Given the description of an element on the screen output the (x, y) to click on. 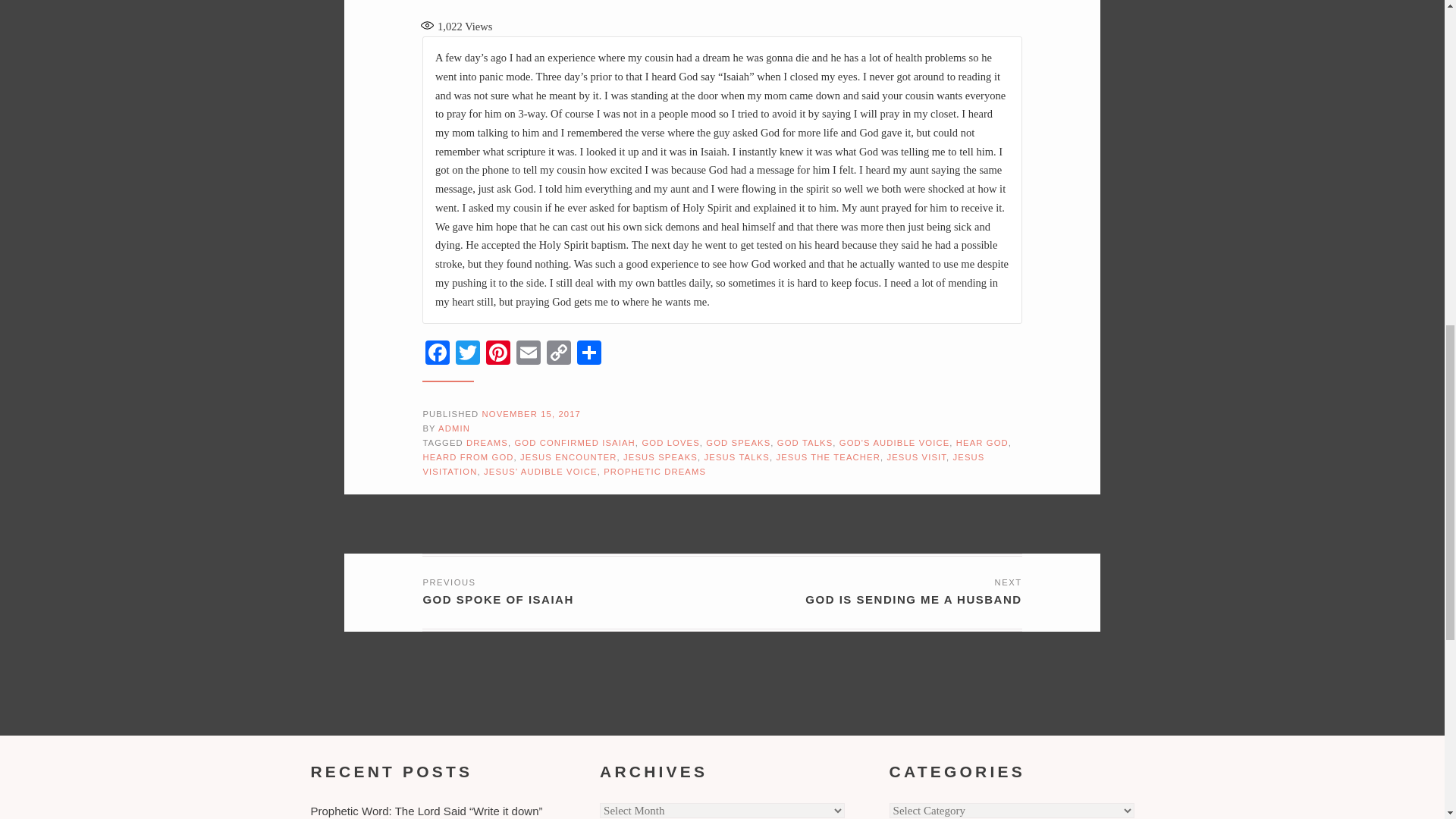
GOD CONFIRMED ISAIAH (573, 442)
Pinterest (498, 354)
Twitter (467, 354)
Twitter (467, 354)
GOD SPEAKS (738, 442)
NOVEMBER 15, 2017 (530, 413)
ADMIN (454, 428)
GOD LOVES (670, 442)
Email (528, 354)
GOD TALKS (804, 442)
